Given the description of an element on the screen output the (x, y) to click on. 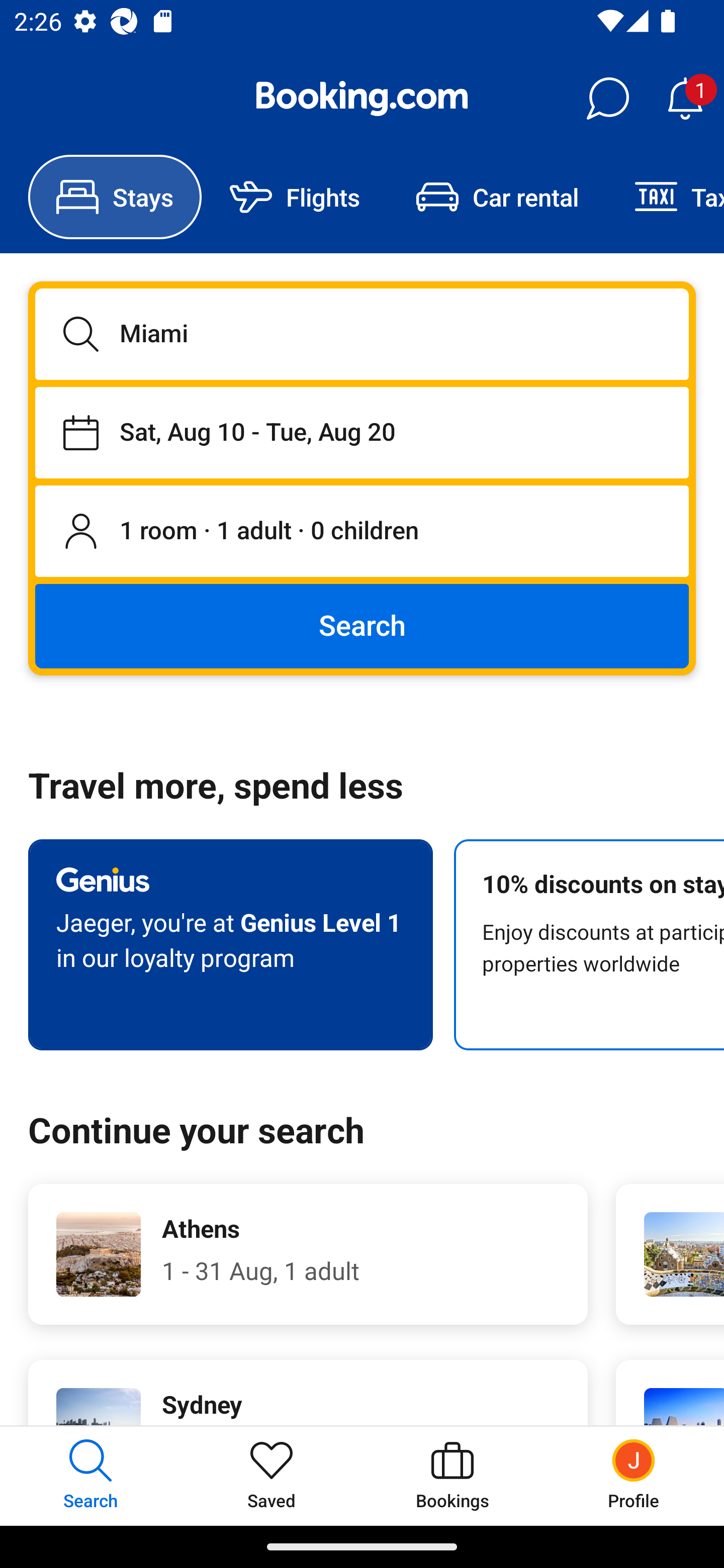
Messages (607, 98)
Notifications (685, 98)
Stays (114, 197)
Flights (294, 197)
Car rental (497, 197)
Taxi (665, 197)
Miami (361, 333)
Staying from Sat, Aug 10 until Tue, Aug 20 (361, 432)
1 room, 1 adult, 0 children (361, 531)
Search (361, 625)
Athens 1 - 31 Aug, 1 adult (307, 1253)
Saved (271, 1475)
Bookings (452, 1475)
Profile (633, 1475)
